Given the description of an element on the screen output the (x, y) to click on. 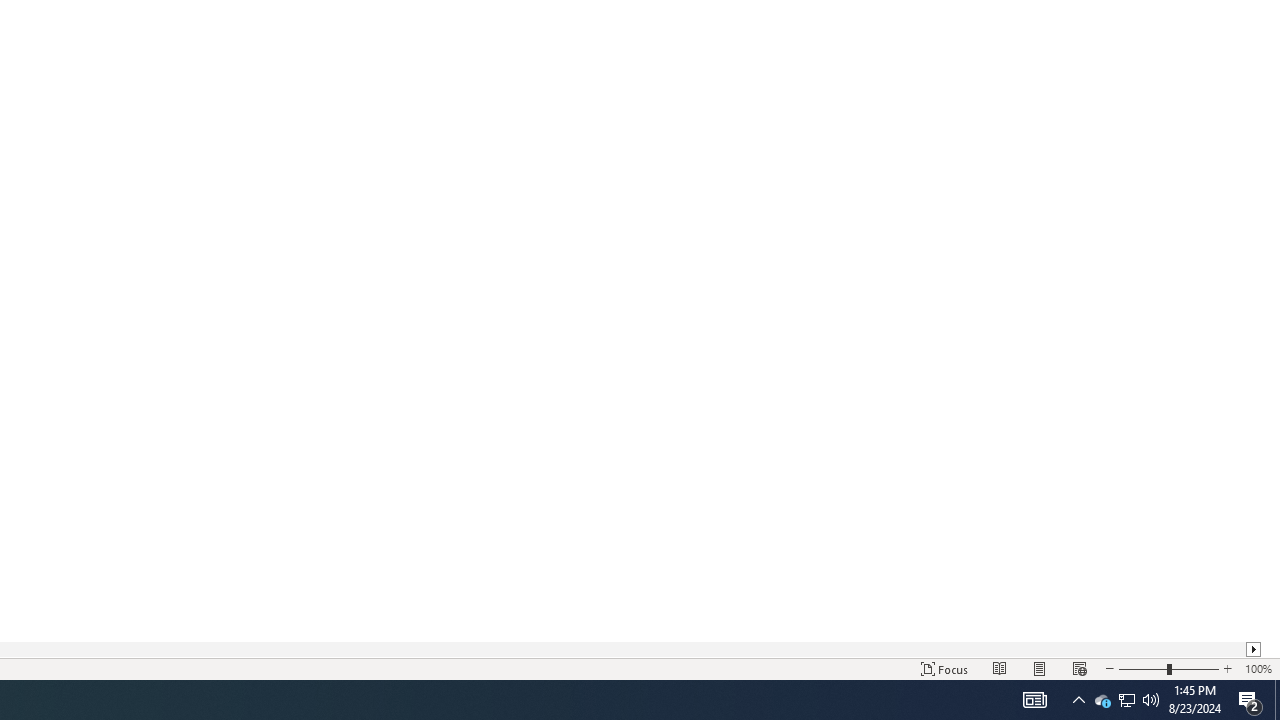
Zoom 100% (1258, 668)
Column right (1254, 649)
